Given the description of an element on the screen output the (x, y) to click on. 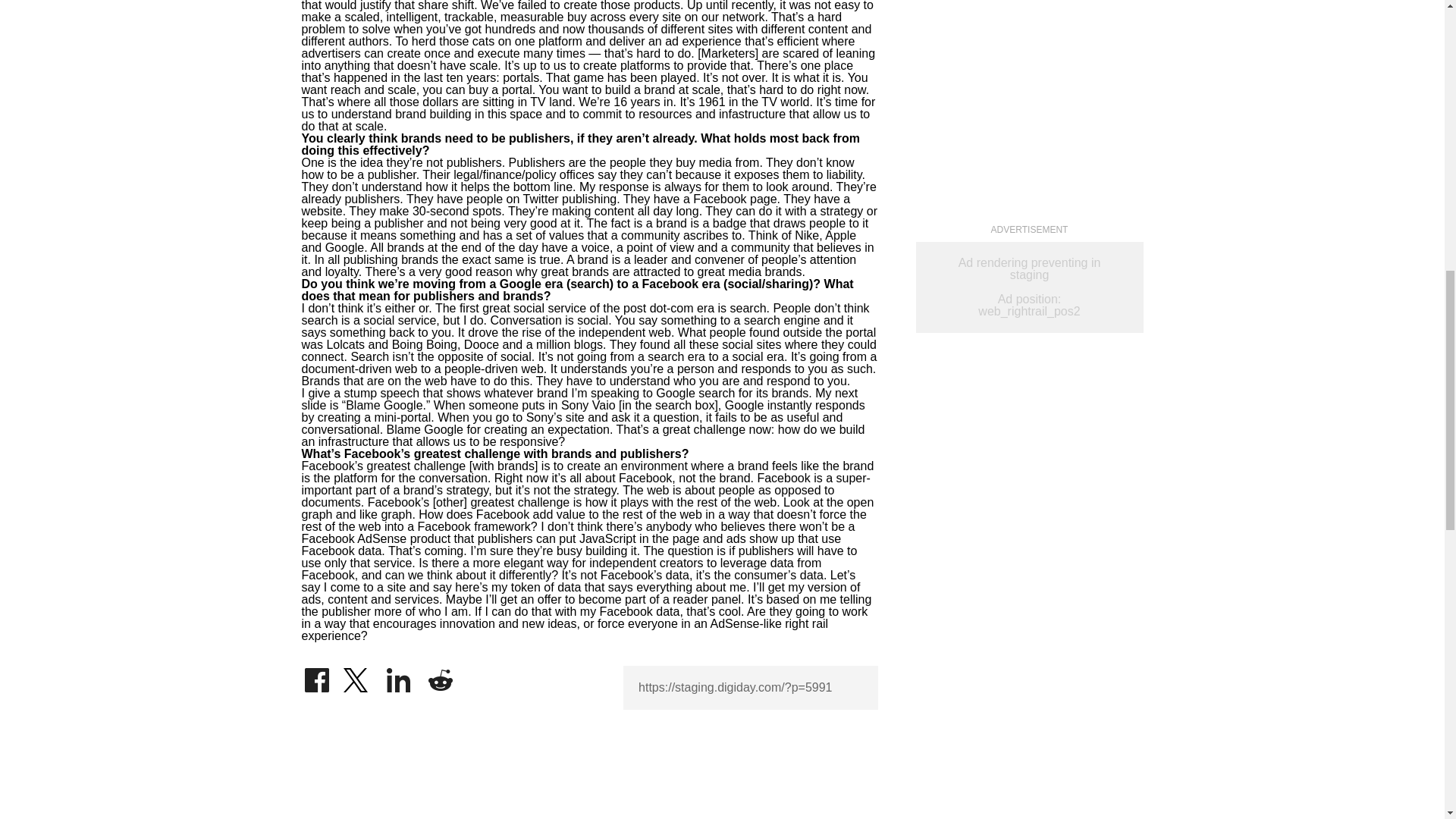
Share on Facebook (316, 676)
Share on LinkedIn (398, 676)
Share on Twitter (357, 676)
Share on Reddit (440, 676)
